Given the description of an element on the screen output the (x, y) to click on. 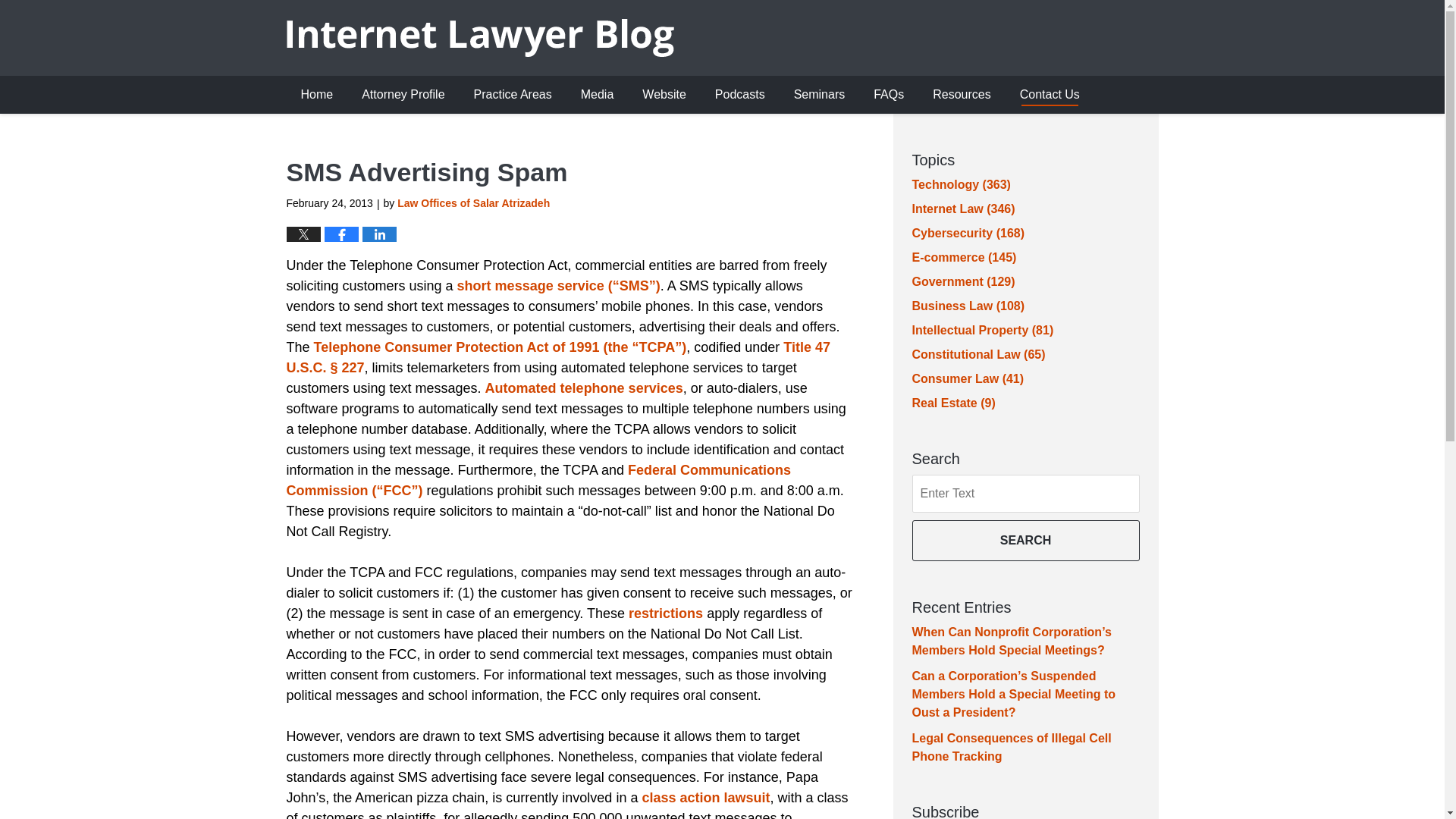
Website (663, 94)
Internet Lawyer Blog (480, 37)
Resources (961, 94)
Attorney Profile (402, 94)
Seminars (819, 94)
Home (316, 94)
Law Offices of Salar Atrizadeh (473, 203)
FAQs (888, 94)
Practice Areas (513, 94)
Media (597, 94)
Contact Us (1050, 94)
Podcasts (739, 94)
